Given the description of an element on the screen output the (x, y) to click on. 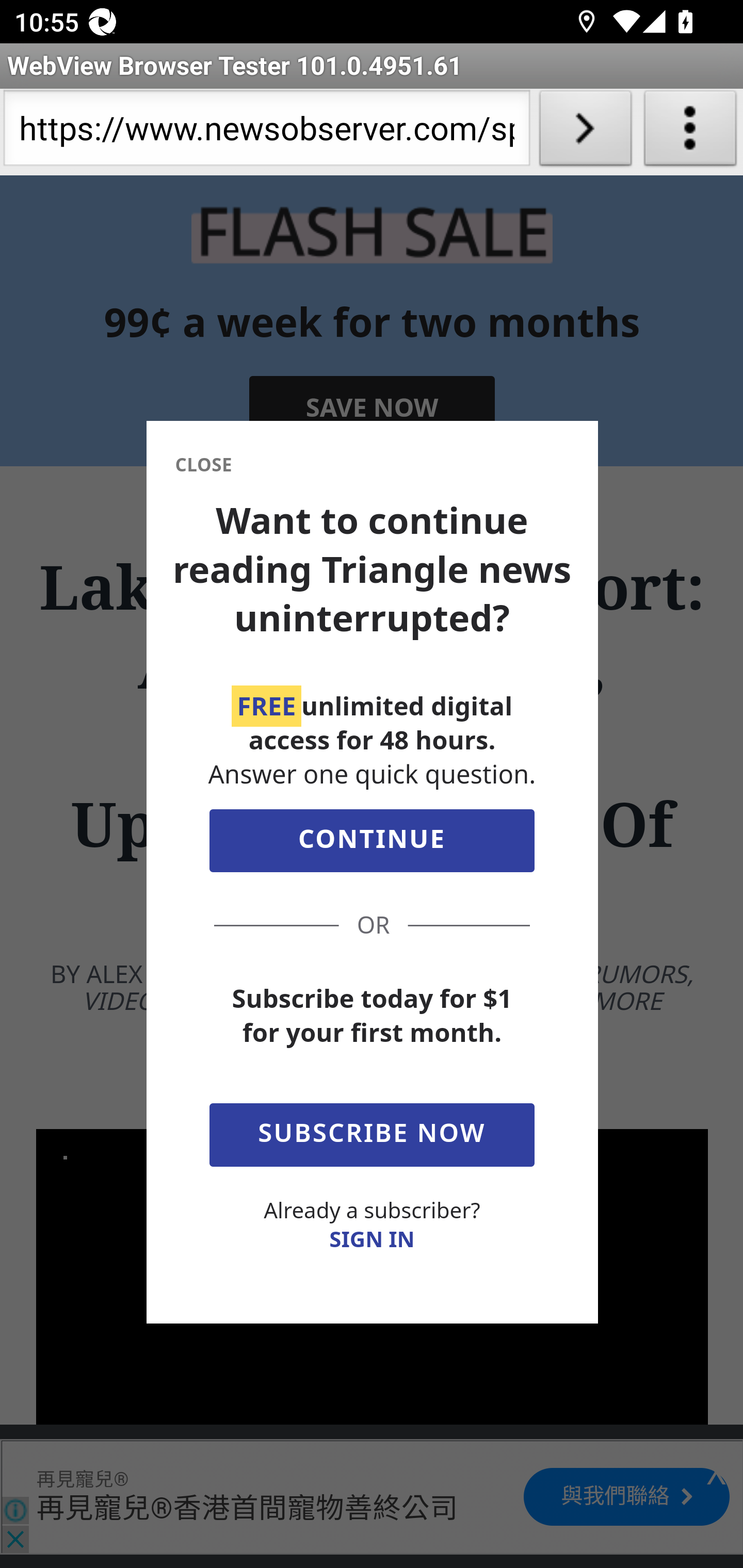
Load URL (585, 132)
About WebView (690, 132)
CLOSE (203, 464)
CONTINUE (371, 845)
SUBSCRIBE NOW (371, 1131)
SIGN IN (371, 1239)
